Given the description of an element on the screen output the (x, y) to click on. 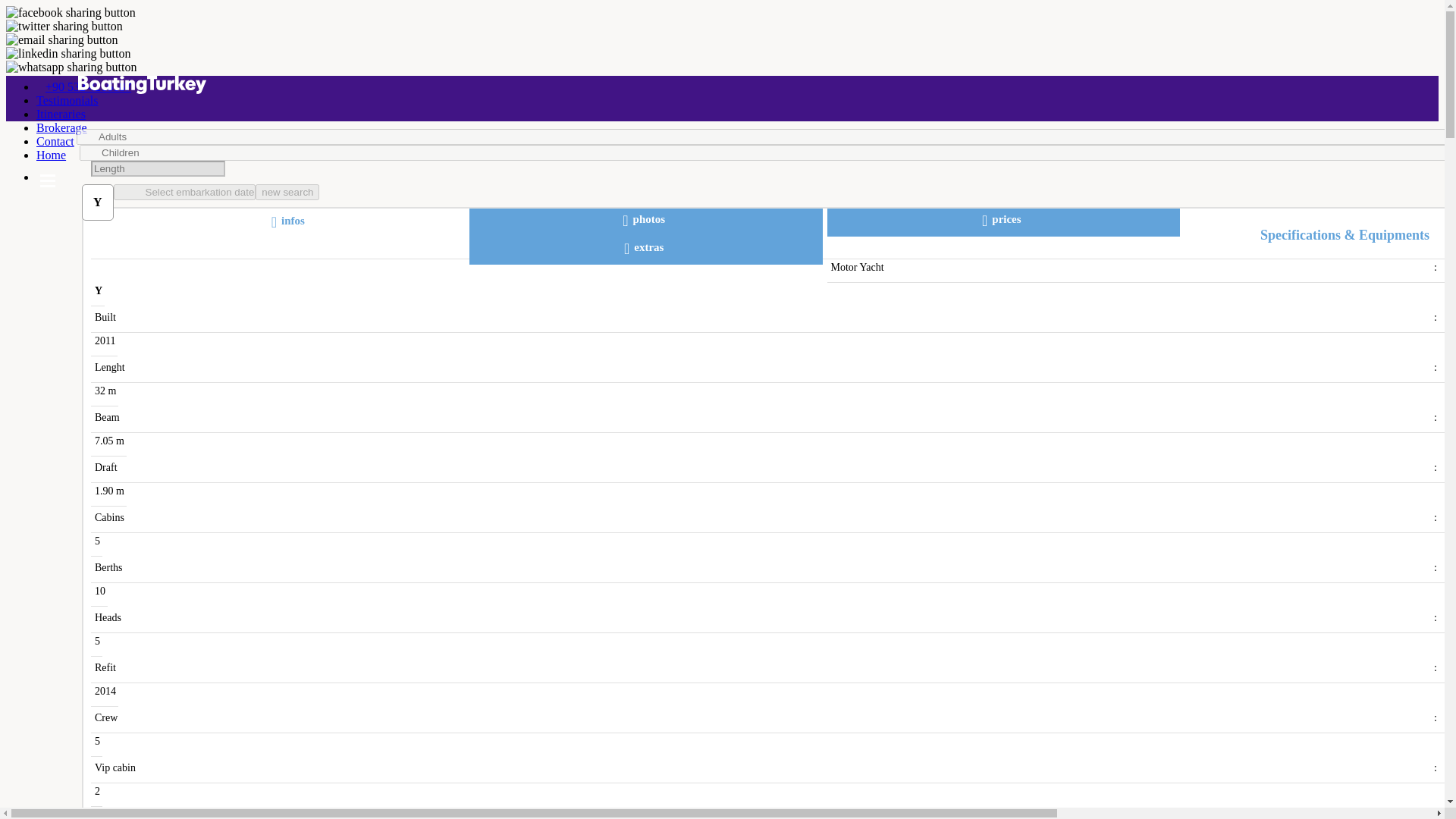
Contact (55, 141)
Testimonials (67, 100)
new search (287, 191)
Home (50, 154)
boatingturkey.net (721, 87)
Select embarkation date (184, 191)
itineraries (60, 113)
Testimonials (67, 100)
Brokerage (61, 127)
Contact (55, 141)
